Given the description of an element on the screen output the (x, y) to click on. 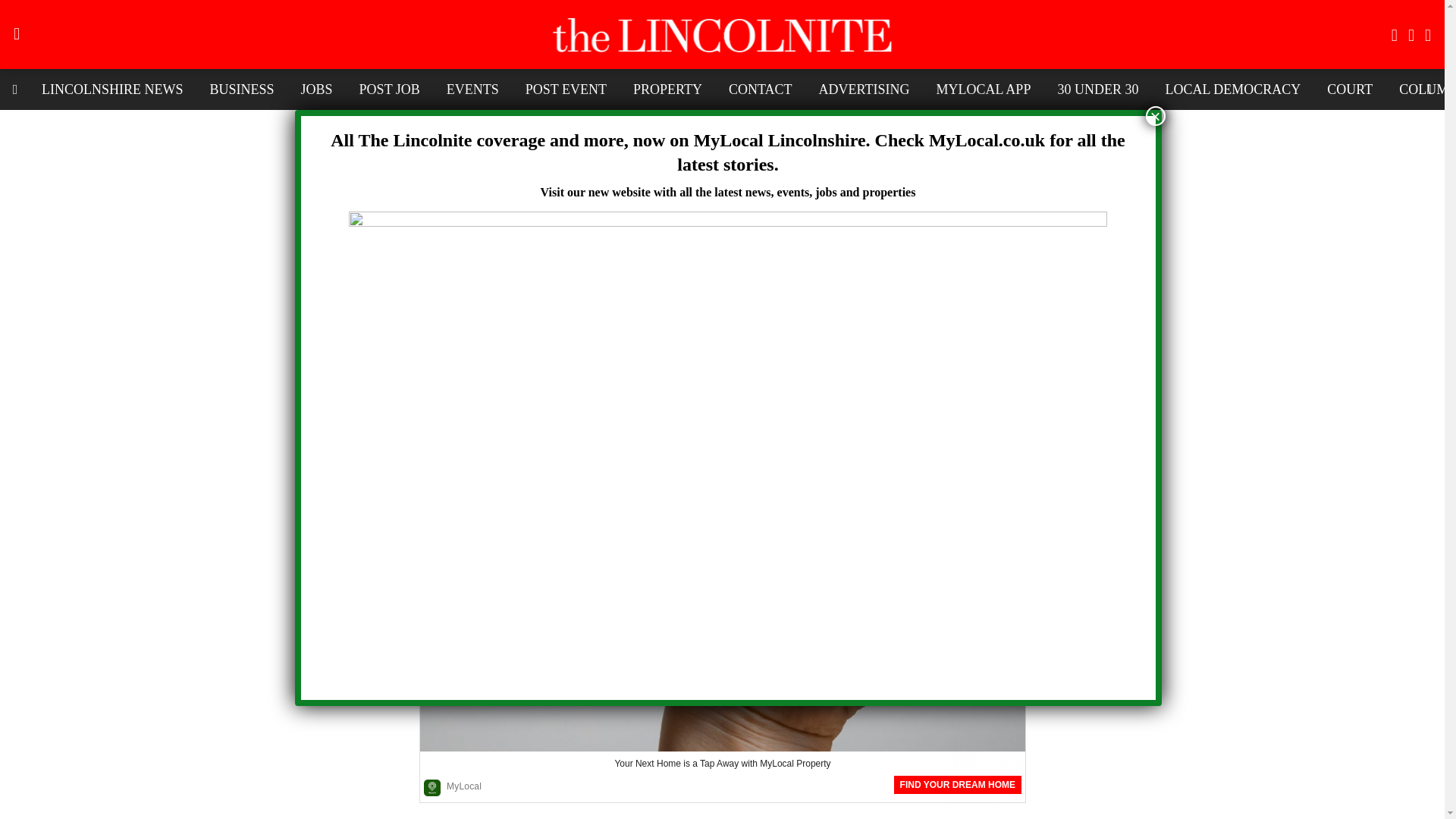
PROPERTY (667, 88)
ADVERTISING (864, 88)
30 UNDER 30 (1097, 88)
CONTACT (760, 88)
EVENTS (473, 88)
JOBS (316, 88)
POST EVENT (565, 88)
MYLOCAL APP (983, 88)
POST JOB (388, 88)
LINCOLNSHIRE NEWS (112, 88)
BUSINESS (241, 88)
LOCAL DEMOCRACY (1232, 88)
COURT (1350, 88)
